Given the description of an element on the screen output the (x, y) to click on. 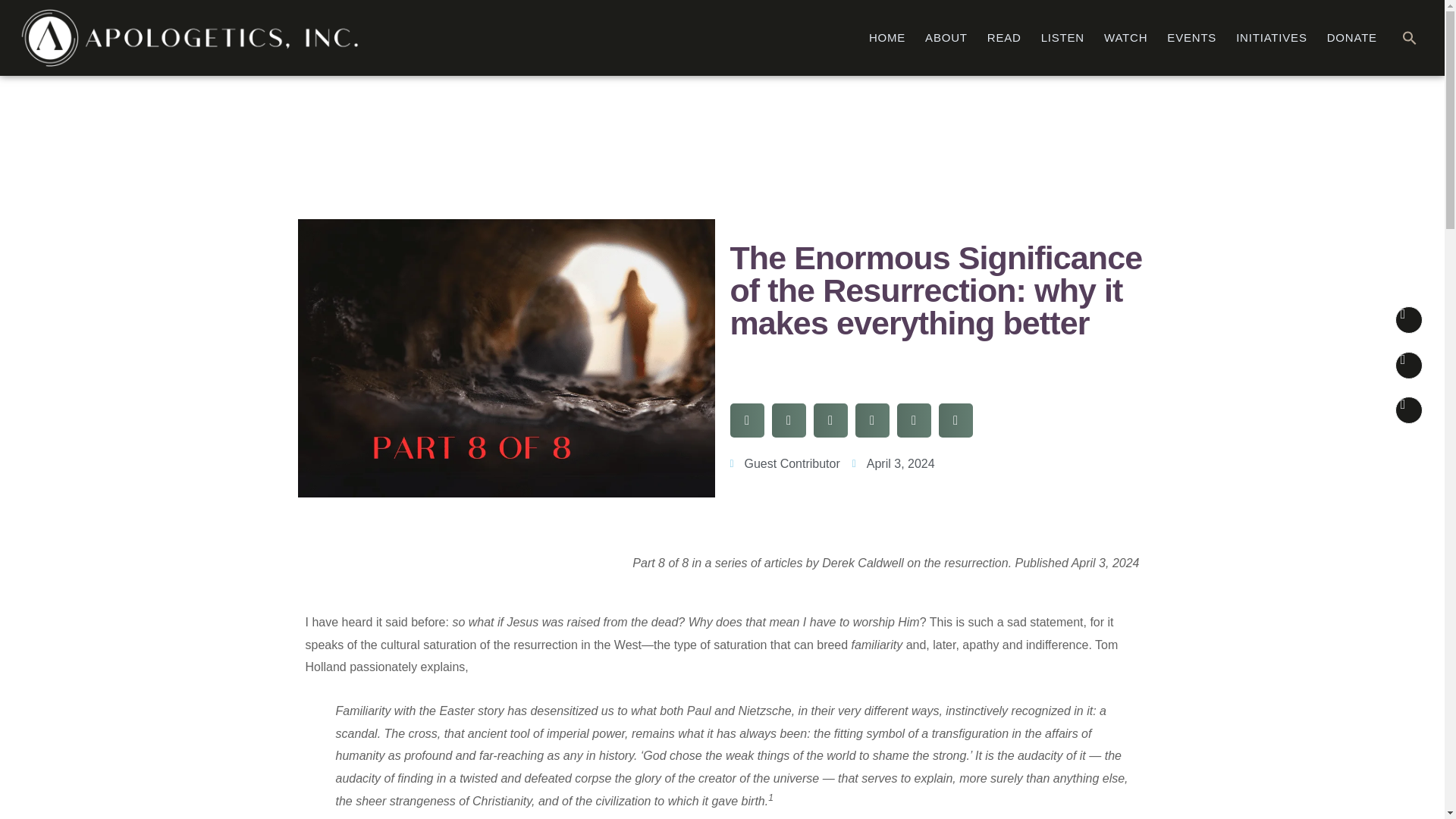
Instagram (1408, 319)
Facebook (1408, 365)
DONATE (1352, 38)
INITIATIVES (1271, 38)
Youtube (1408, 410)
EVENTS (1191, 38)
